Given the description of an element on the screen output the (x, y) to click on. 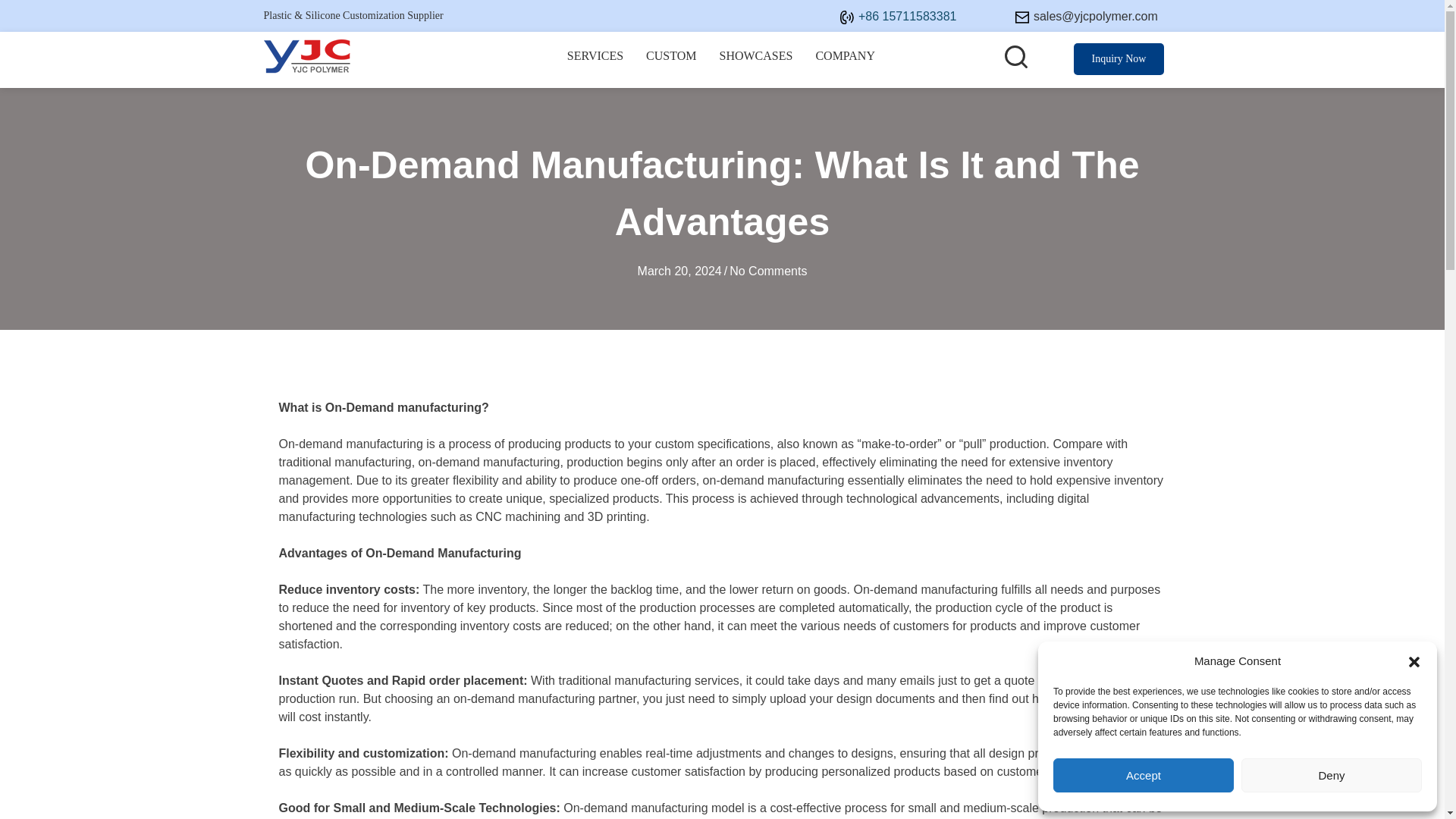
SHOWCASES (756, 59)
Deny (1331, 775)
CUSTOM (670, 59)
Accept (1142, 775)
SERVICES (595, 59)
